Given the description of an element on the screen output the (x, y) to click on. 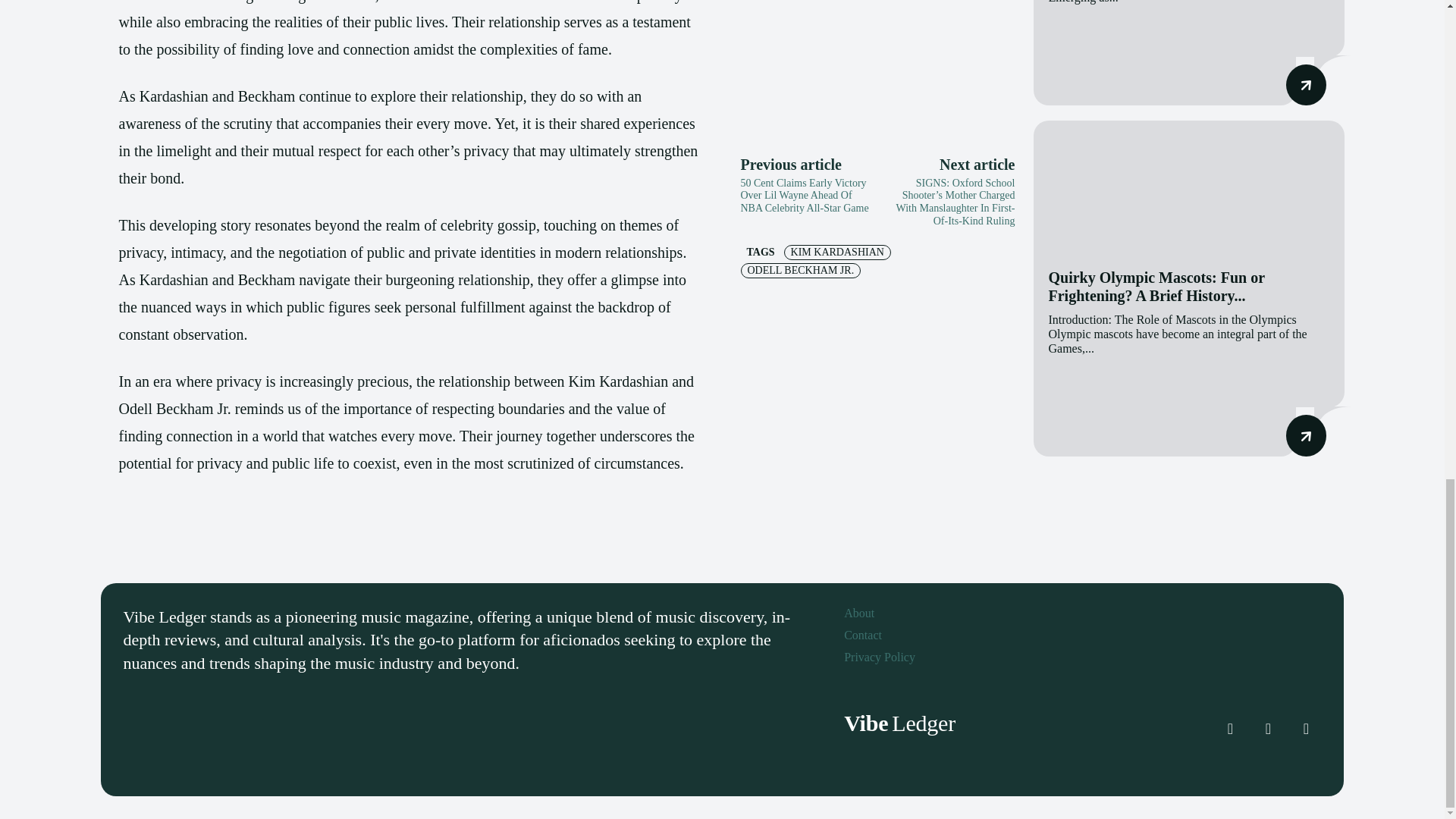
ODELL BECKHAM JR. (799, 270)
KIM KARDASHIAN (837, 252)
